Given the description of an element on the screen output the (x, y) to click on. 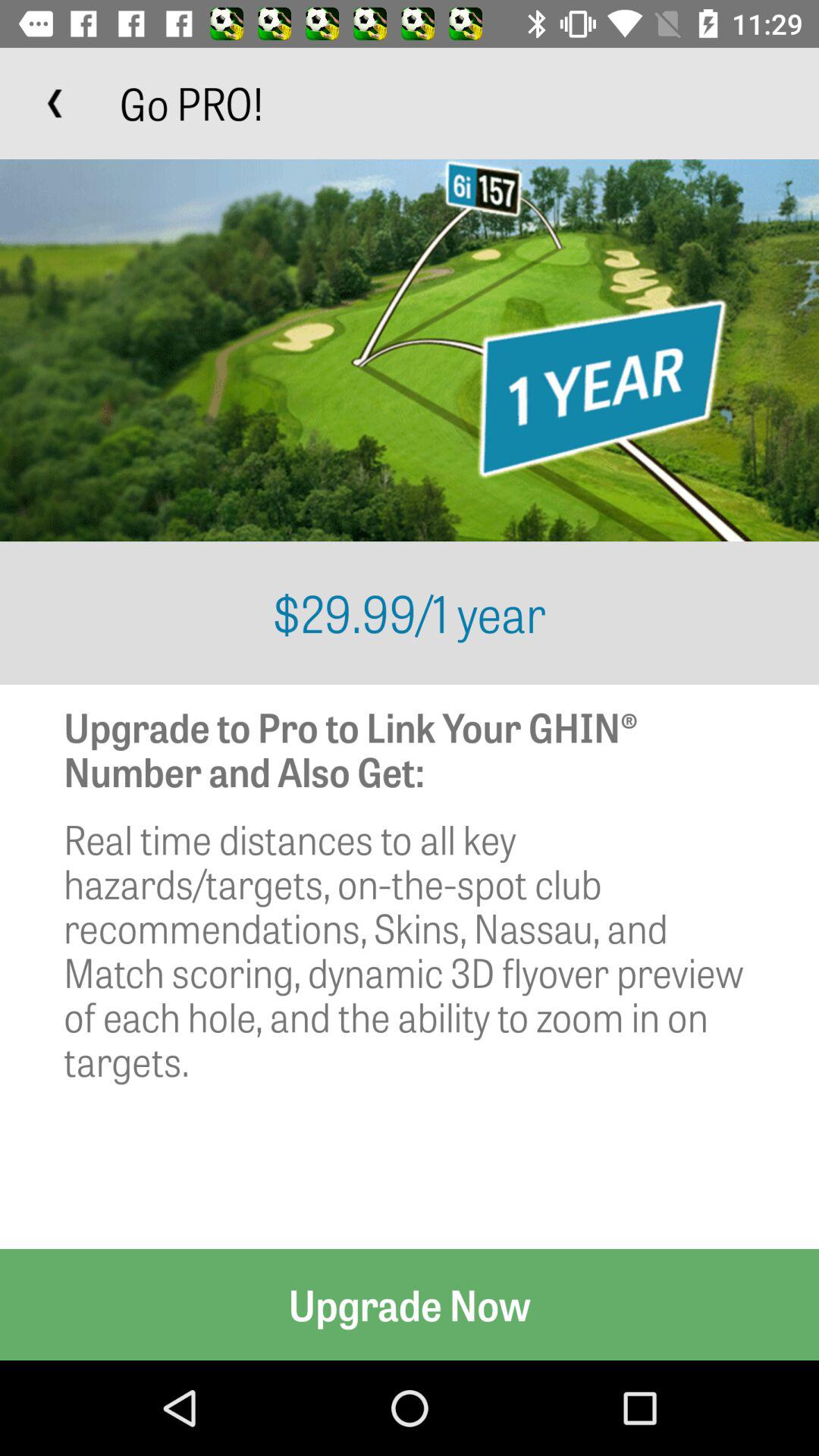
choose the icon below the real time distances icon (409, 1304)
